Given the description of an element on the screen output the (x, y) to click on. 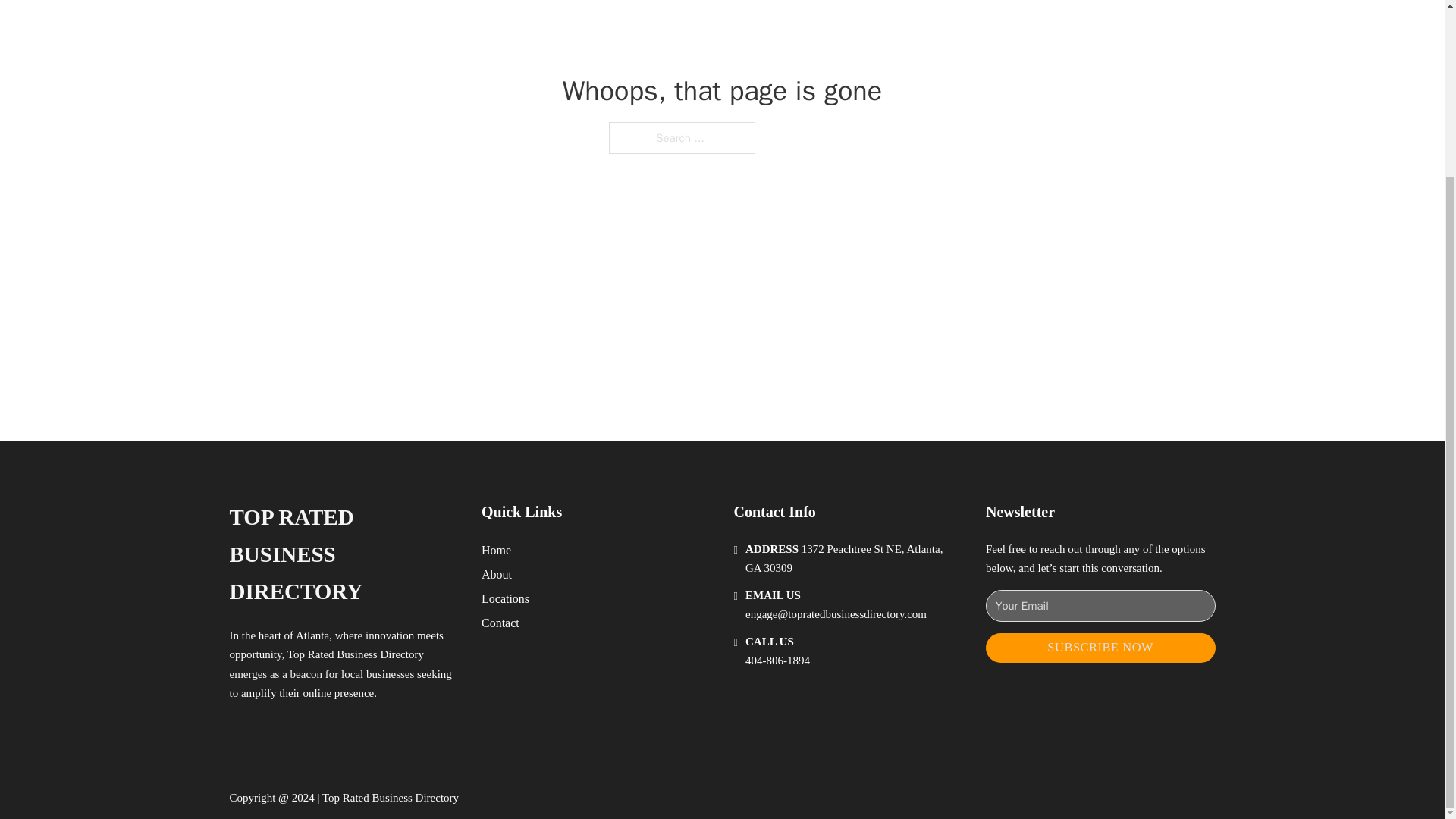
TOP RATED BUSINESS DIRECTORY (343, 554)
Contact (500, 622)
SUBSCRIBE NOW (1100, 647)
Home (496, 549)
Locations (505, 598)
About (496, 574)
404-806-1894 (777, 660)
